Given the description of an element on the screen output the (x, y) to click on. 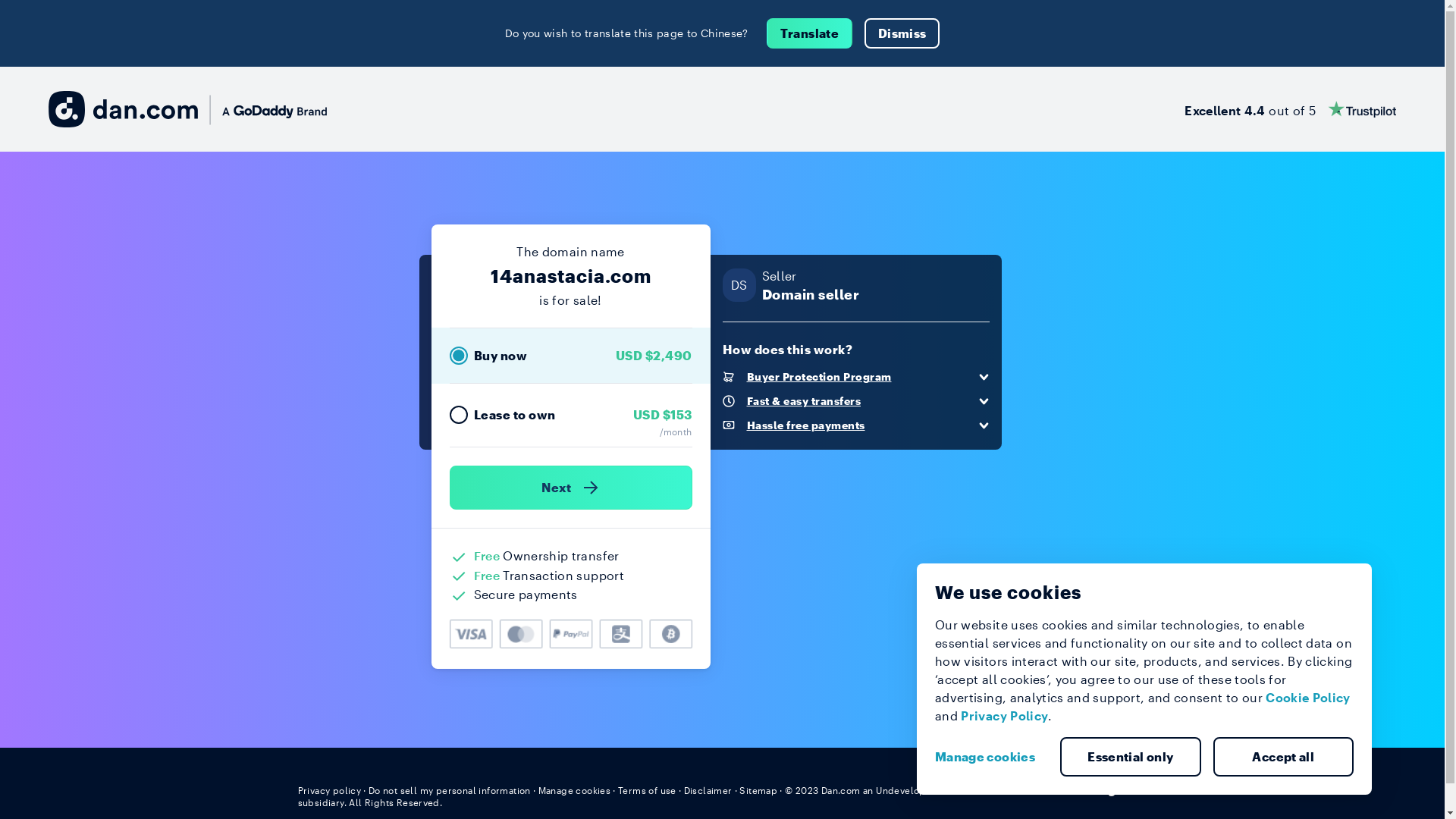
Next
) Element type: text (569, 487)
Essential only Element type: text (1130, 756)
Manage cookies Element type: text (574, 790)
Accept all Element type: text (1283, 756)
Excellent 4.4 out of 5 Element type: text (1290, 109)
Cookie Policy Element type: text (1307, 697)
Manage cookies Element type: text (991, 756)
Do not sell my personal information Element type: text (449, 789)
Privacy policy Element type: text (328, 789)
Terms of use Element type: text (647, 789)
Sitemap Element type: text (758, 789)
Privacy Policy Element type: text (1004, 715)
English Element type: text (1119, 789)
Translate Element type: text (809, 33)
Dismiss Element type: text (901, 33)
Disclaimer Element type: text (708, 789)
